Given the description of an element on the screen output the (x, y) to click on. 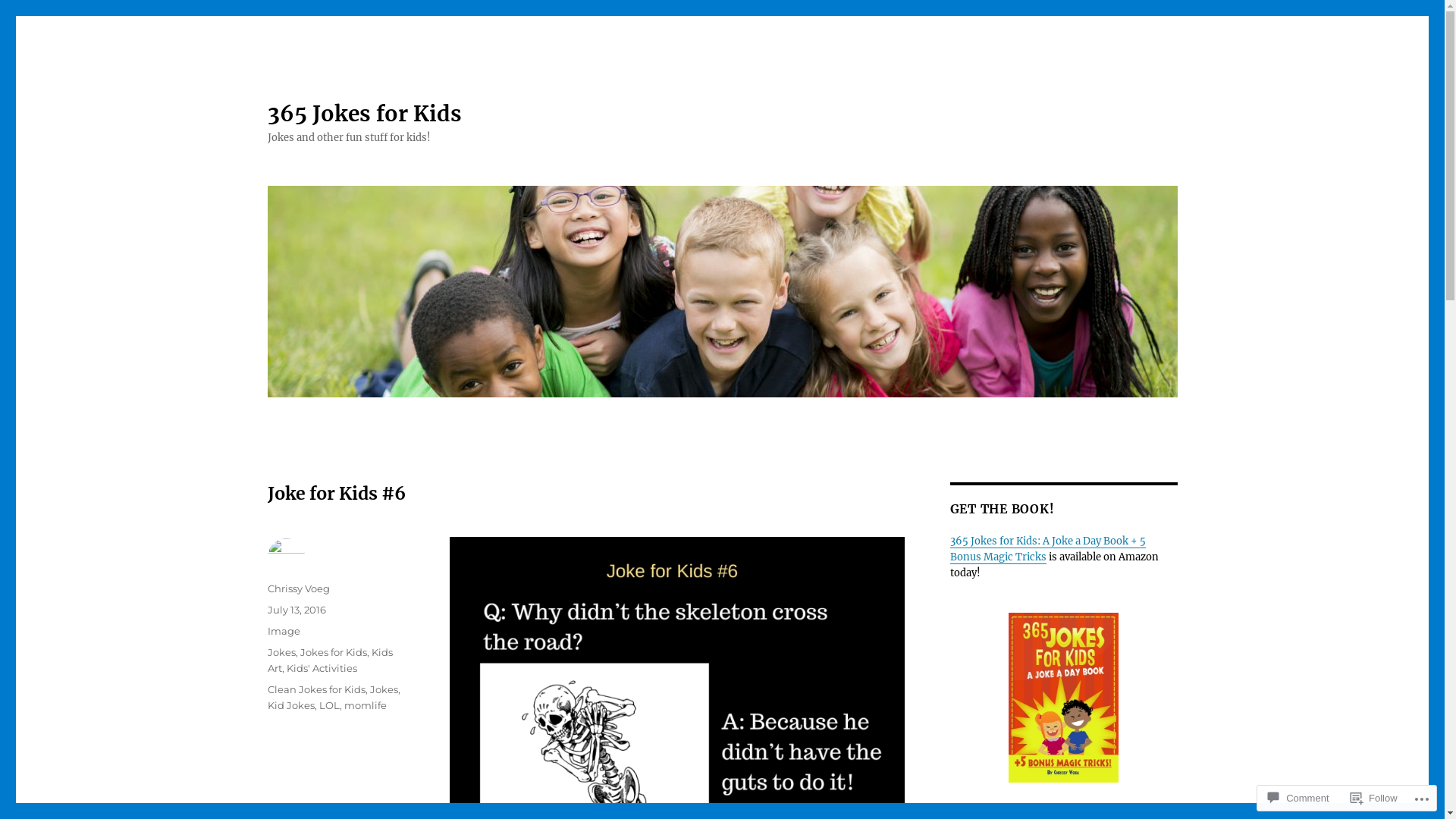
momlife Element type: text (365, 705)
Jokes Element type: text (280, 652)
Follow Element type: text (1373, 797)
Chrissy Voeg Element type: text (297, 588)
365 Jokes for Kids Element type: text (363, 113)
Jokes Element type: text (384, 689)
Kids Art Element type: text (329, 660)
July 13, 2016 Element type: text (295, 609)
LOL Element type: text (328, 705)
365 Jokes for Kids: A Joke a Day Book + 5 Bonus Magic Tricks Element type: text (1047, 548)
Image Element type: text (282, 630)
Clean Jokes for Kids Element type: text (315, 689)
Comment Element type: text (1297, 797)
Jokes for Kids Element type: text (333, 652)
Kids' Activities Element type: text (321, 668)
Kid Jokes Element type: text (289, 705)
